Given the description of an element on the screen output the (x, y) to click on. 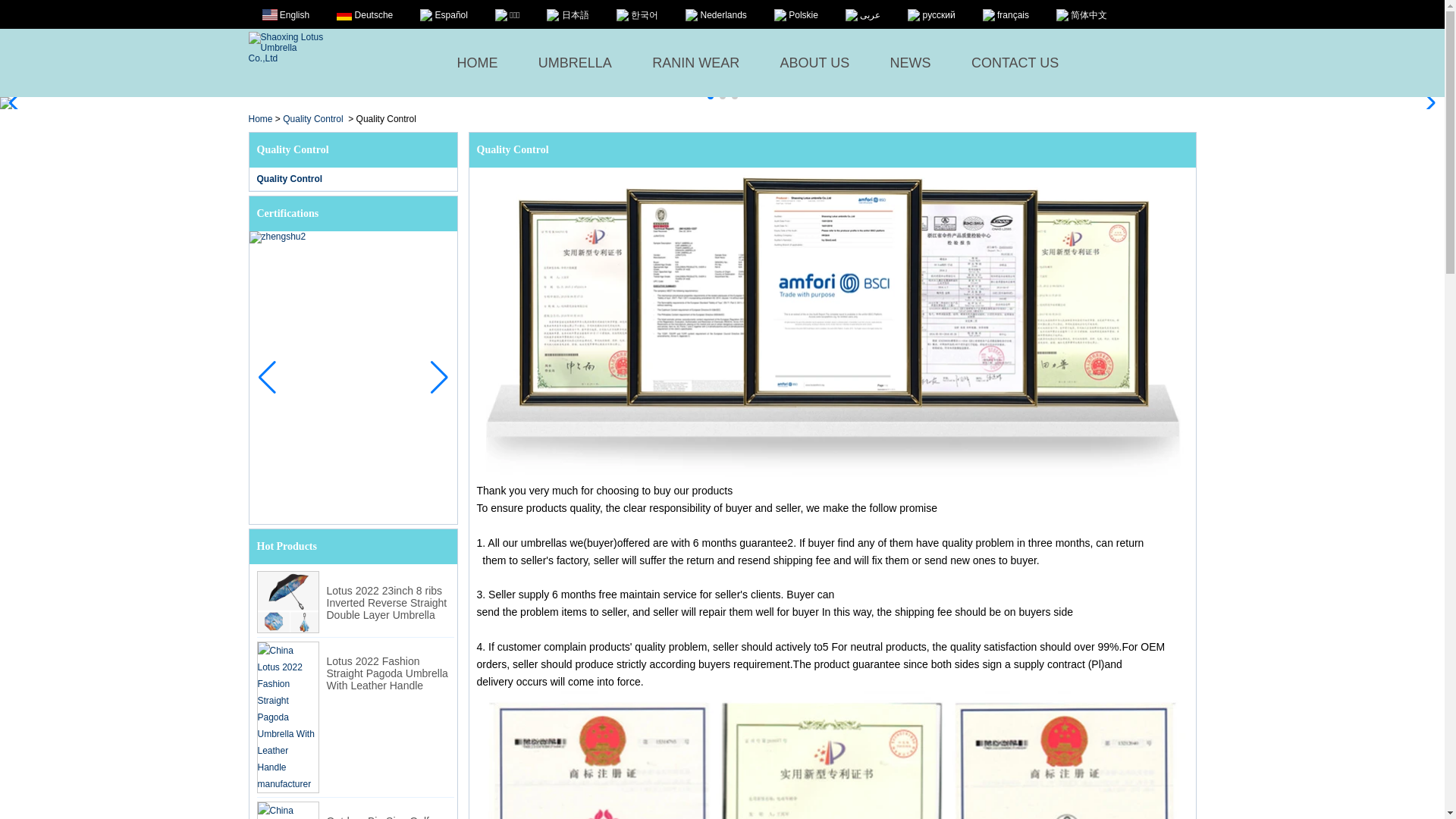
Polskie (796, 14)
English (286, 14)
NEWS (910, 62)
HOME (477, 62)
ABOUT US (815, 62)
Home (260, 118)
Nederlands (715, 14)
